Given the description of an element on the screen output the (x, y) to click on. 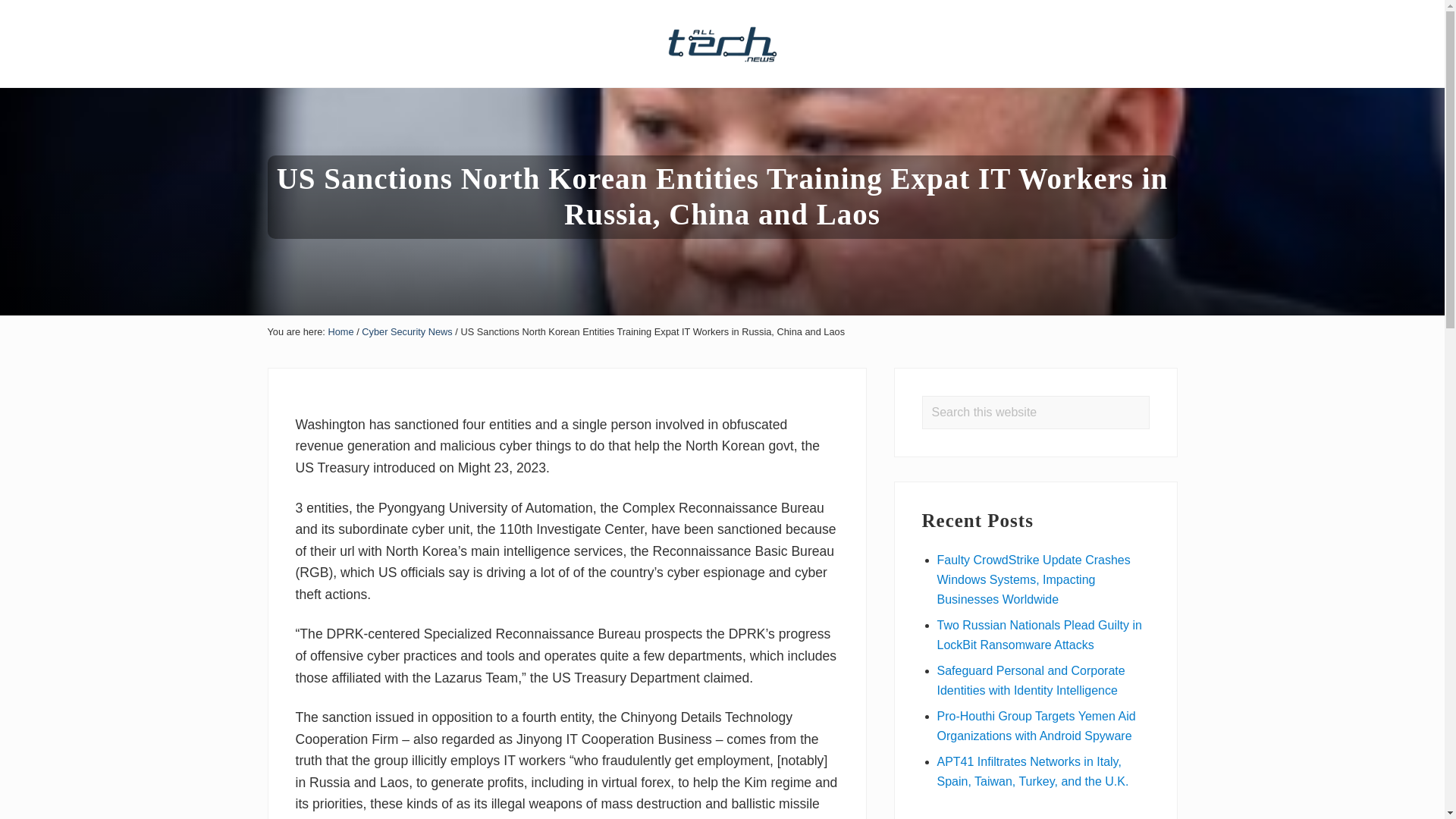
Home (340, 331)
Cyber Security News (406, 331)
